Given the description of an element on the screen output the (x, y) to click on. 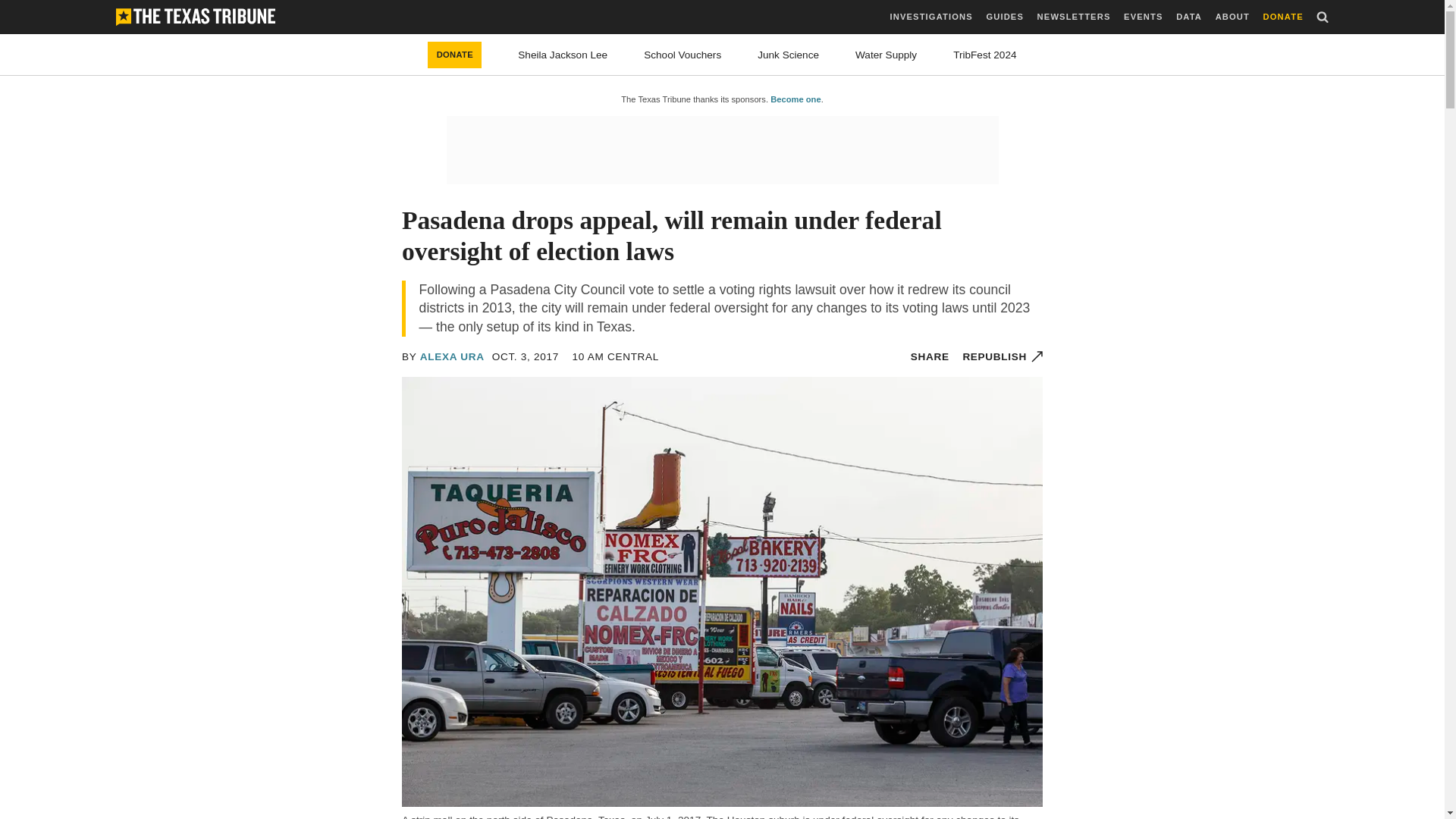
DONATE (1283, 17)
School Vouchers (681, 54)
2017-10-03 10:55 CDT (615, 356)
2017-10-03 10:55 CDT (525, 356)
REPUBLISH (1002, 356)
NEWSLETTERS (1073, 17)
GUIDES (1004, 17)
Become one (795, 99)
Water Supply (886, 54)
ABOUT (1232, 17)
Sheila Jackson Lee (562, 54)
Junk Science (787, 54)
ALEXA URA (452, 356)
EVENTS (1142, 17)
TribFest 2024 (984, 54)
